Given the description of an element on the screen output the (x, y) to click on. 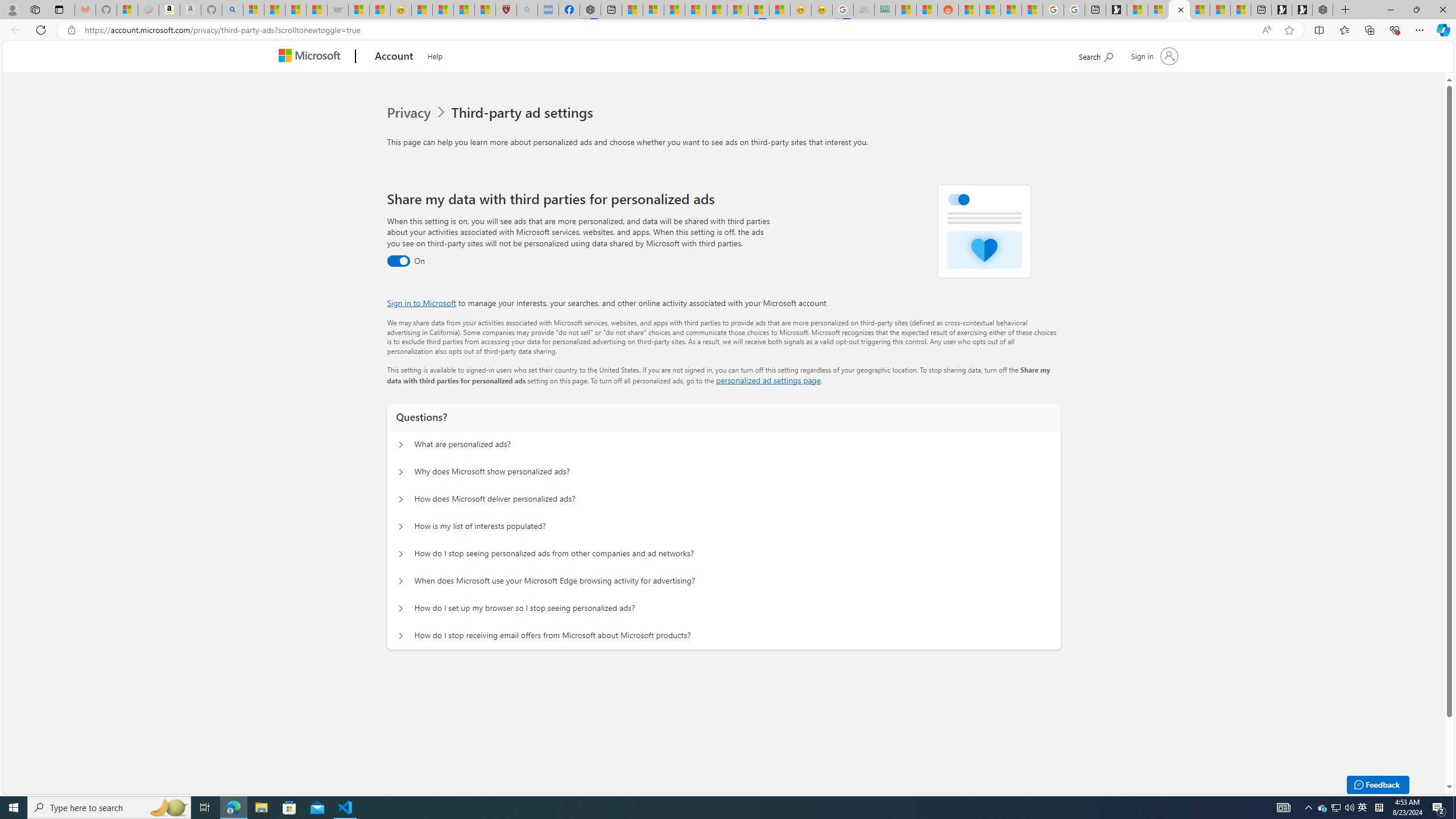
Questions? What are personalized ads? (401, 444)
